Given the description of an element on the screen output the (x, y) to click on. 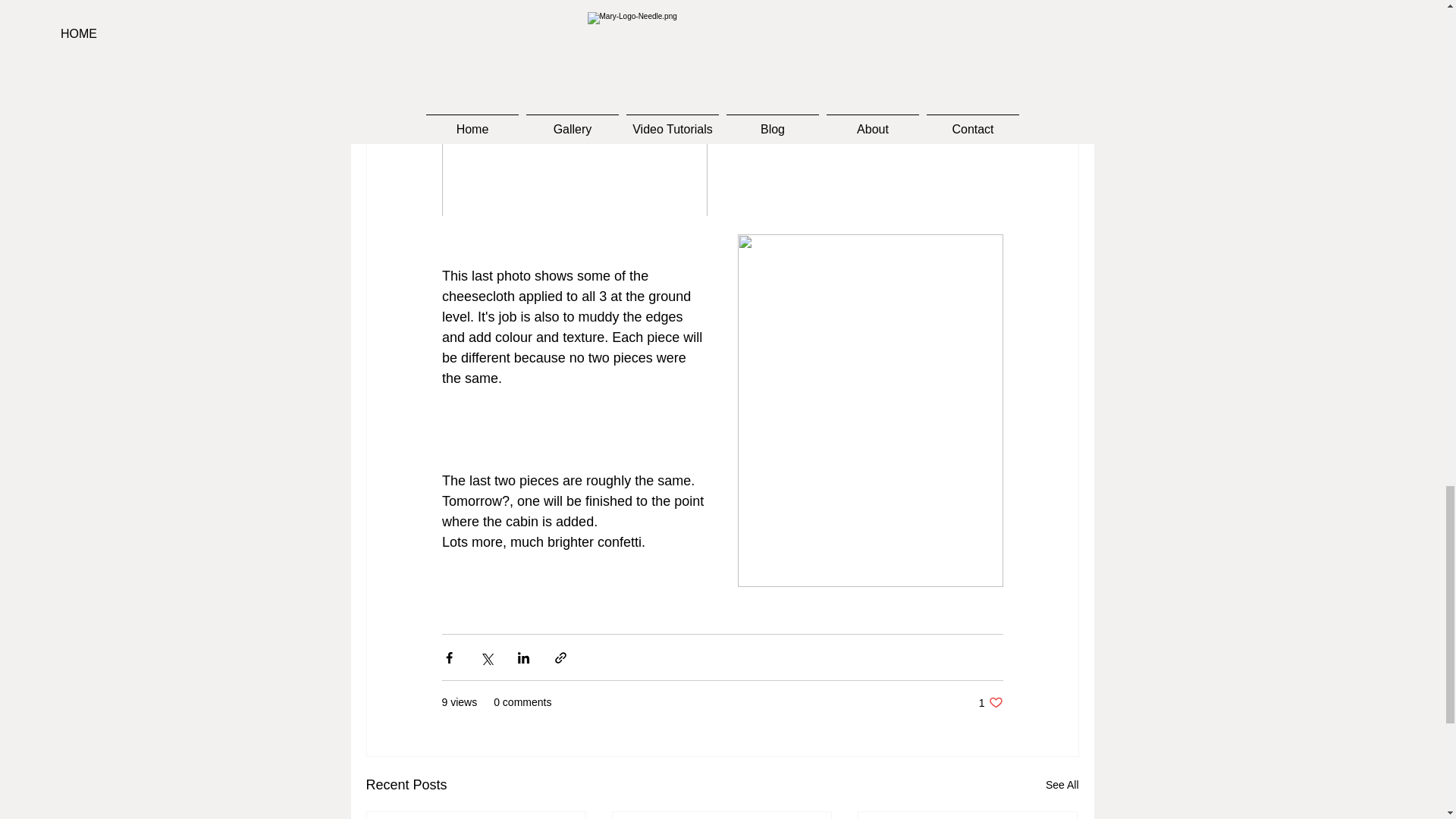
See All (990, 702)
